Given the description of an element on the screen output the (x, y) to click on. 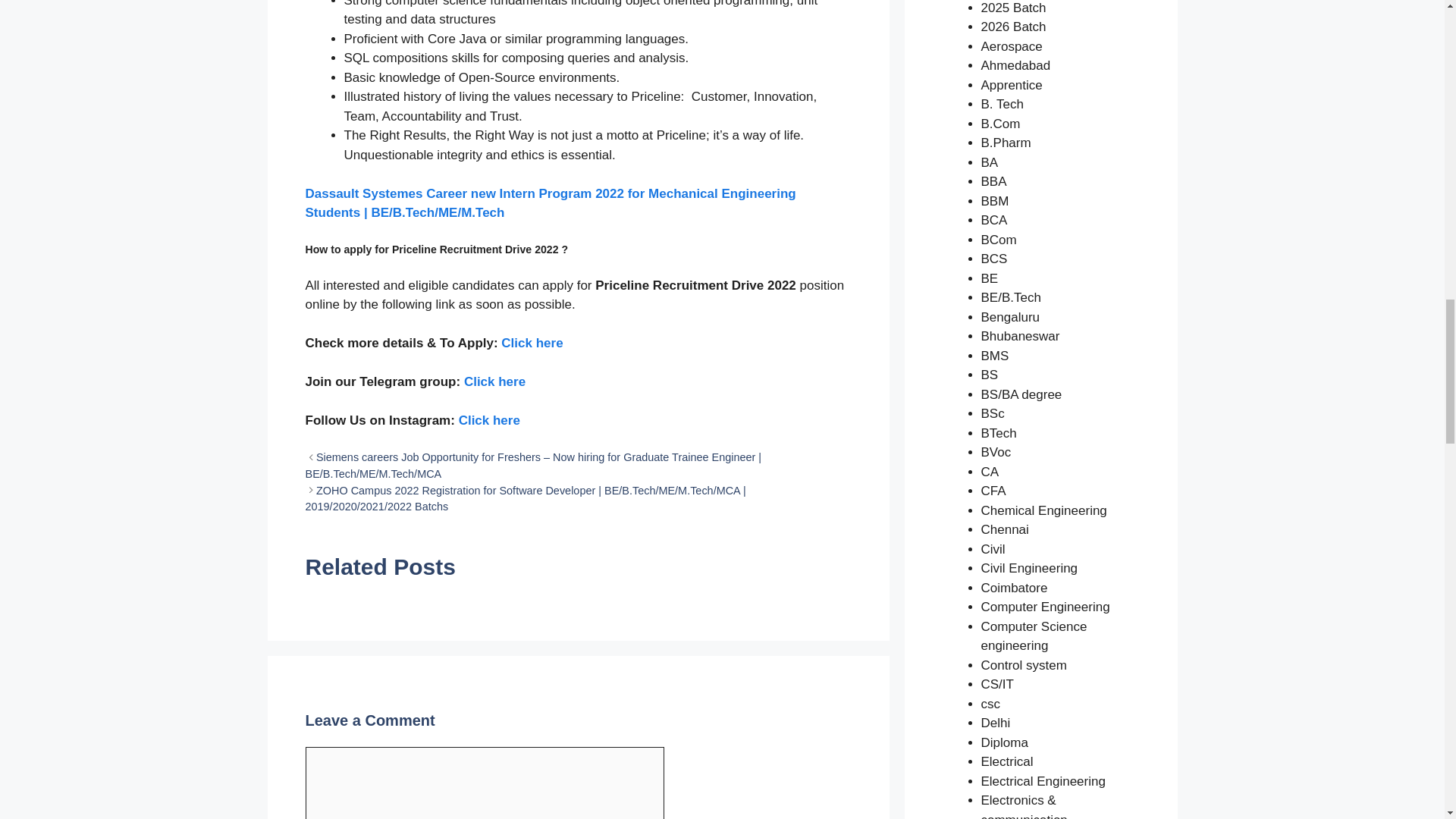
Click here (531, 342)
Click here (488, 420)
Click here (494, 381)
